Given the description of an element on the screen output the (x, y) to click on. 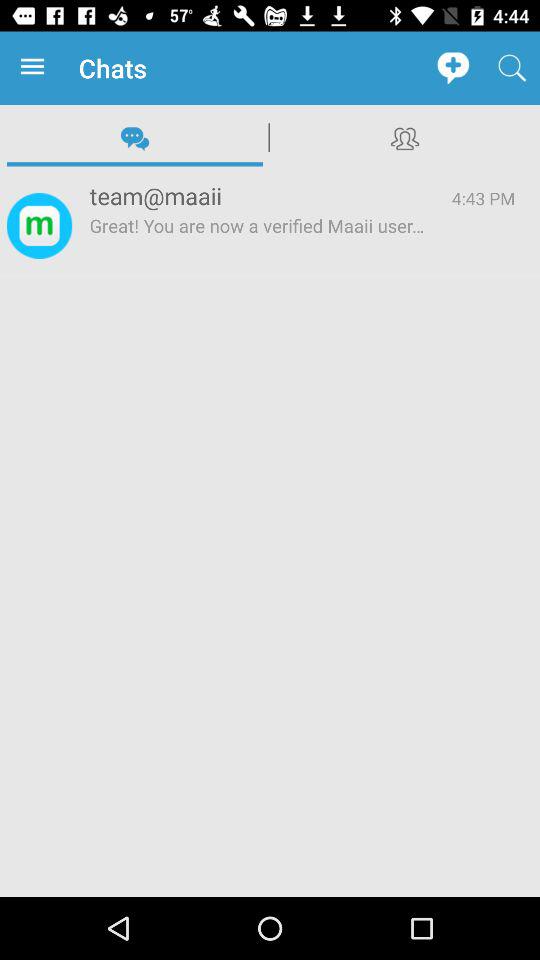
click item above the great you are app (258, 195)
